Given the description of an element on the screen output the (x, y) to click on. 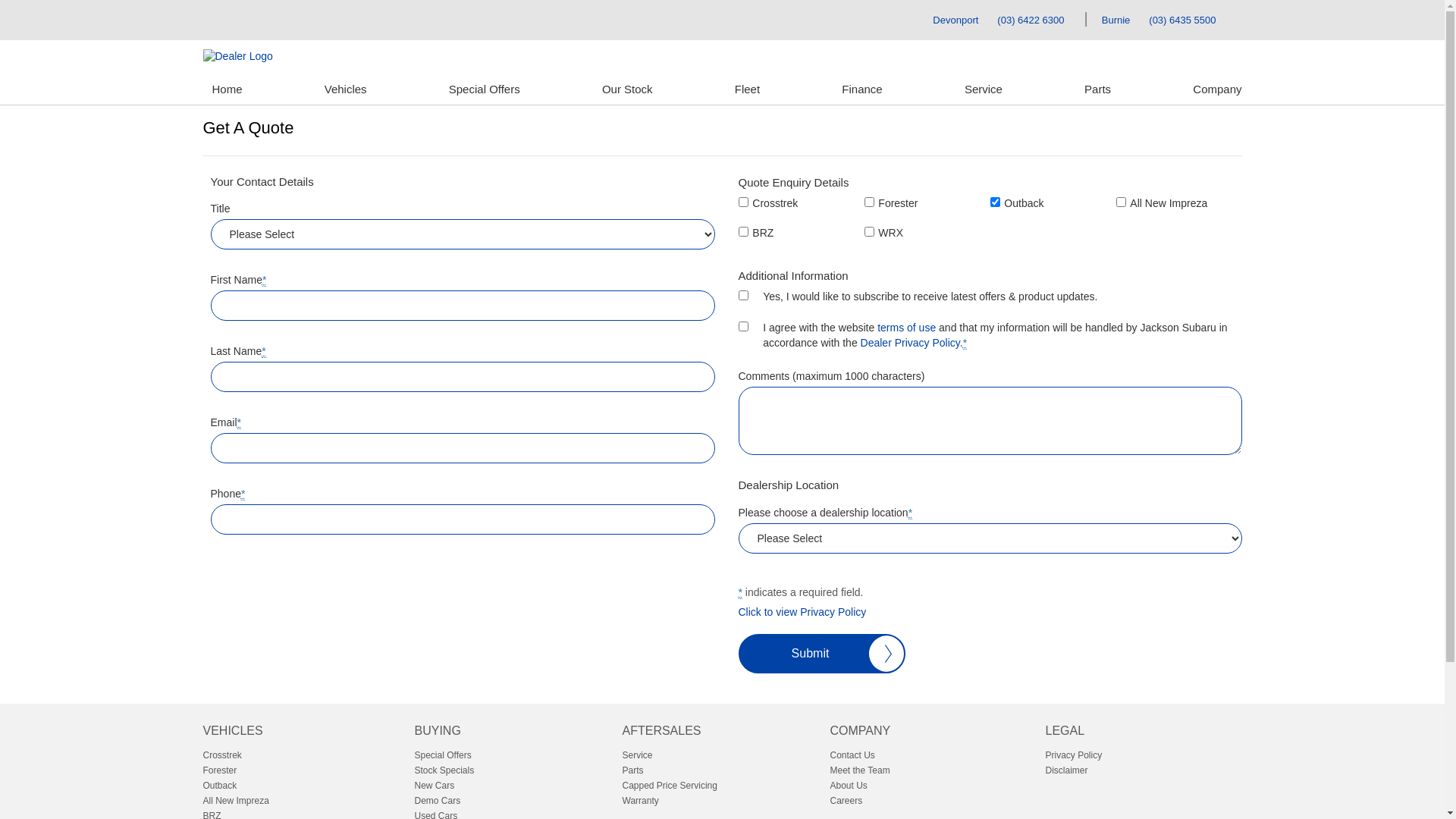
Warranty Element type: text (721, 800)
terms of use Element type: text (906, 327)
Crosstrek Element type: text (301, 754)
Special Offers Element type: text (514, 754)
Home Element type: text (227, 88)
Special Offers Element type: text (484, 88)
Stock Specials Element type: text (514, 770)
Forester Element type: text (301, 770)
Dealer Privacy Policy Element type: text (910, 342)
Service Element type: text (983, 88)
Careers Element type: text (929, 800)
Submit Element type: text (821, 653)
Parts Element type: text (1097, 88)
Privacy Policy Element type: text (1142, 754)
Disclaimer Element type: text (1142, 770)
Click to view Privacy Policy Element type: text (802, 611)
Meet the Team Element type: text (929, 770)
Finance Element type: text (861, 88)
Outback Element type: text (301, 785)
Demo Cars Element type: text (514, 800)
Devonport Element type: text (948, 19)
Burnie Element type: text (1109, 19)
Our Stock Element type: text (627, 88)
Parts Element type: text (721, 770)
All New Impreza Element type: text (301, 800)
Company Element type: text (1212, 88)
Capped Price Servicing Element type: text (721, 785)
Vehicles Element type: text (345, 88)
About Us Element type: text (929, 785)
Contact Us Element type: text (929, 754)
New Cars Element type: text (514, 785)
Service Element type: text (721, 754)
Fleet Element type: text (746, 88)
